Given the description of an element on the screen output the (x, y) to click on. 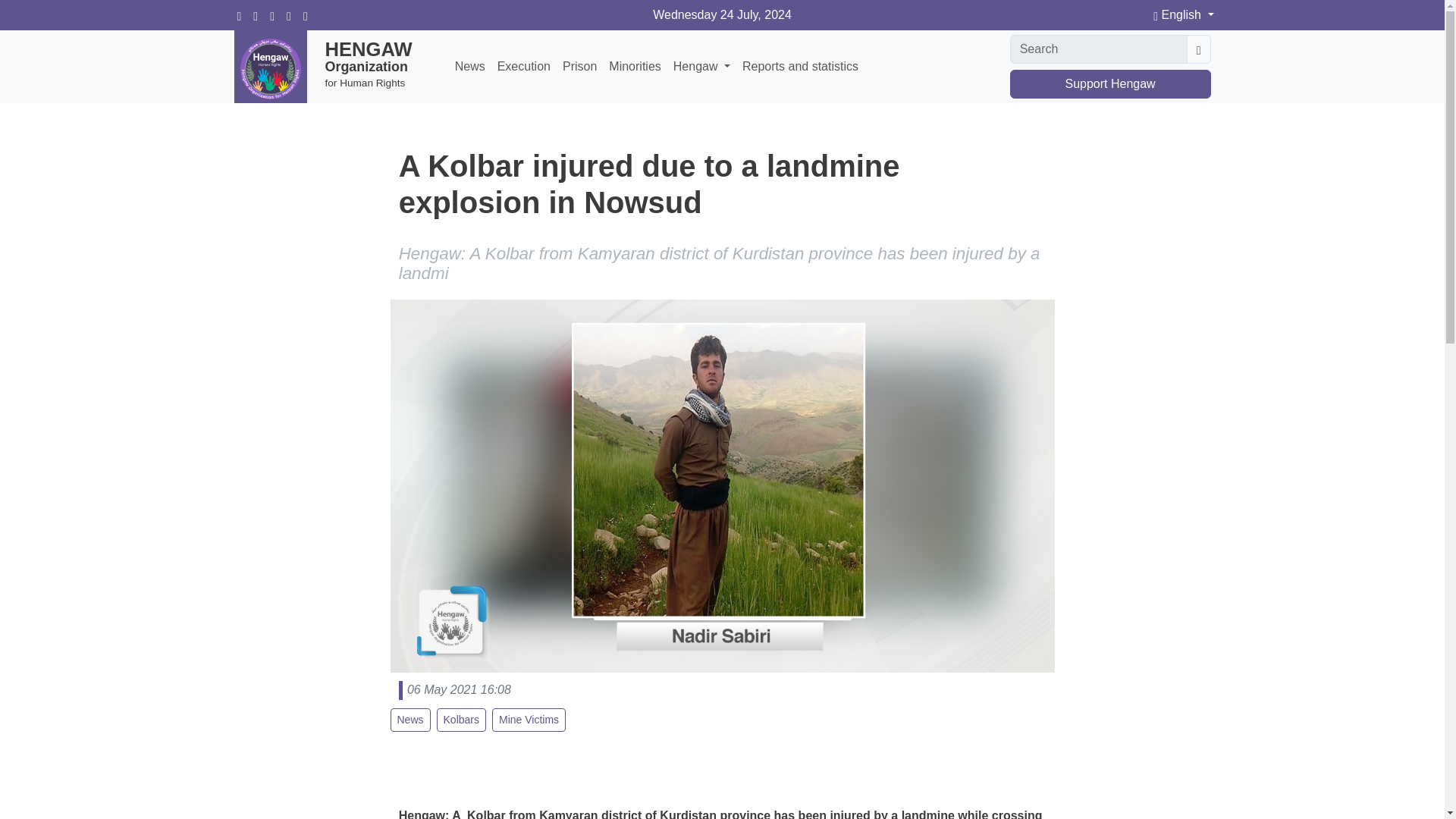
English (1182, 14)
Support Hengaw (1110, 83)
Execution (524, 66)
Reports and statistics (800, 66)
News (409, 720)
News (470, 66)
Mine Victims (529, 720)
Hengaw (701, 66)
Prison (579, 66)
Minorities (634, 66)
Kolbars (461, 720)
